Given the description of an element on the screen output the (x, y) to click on. 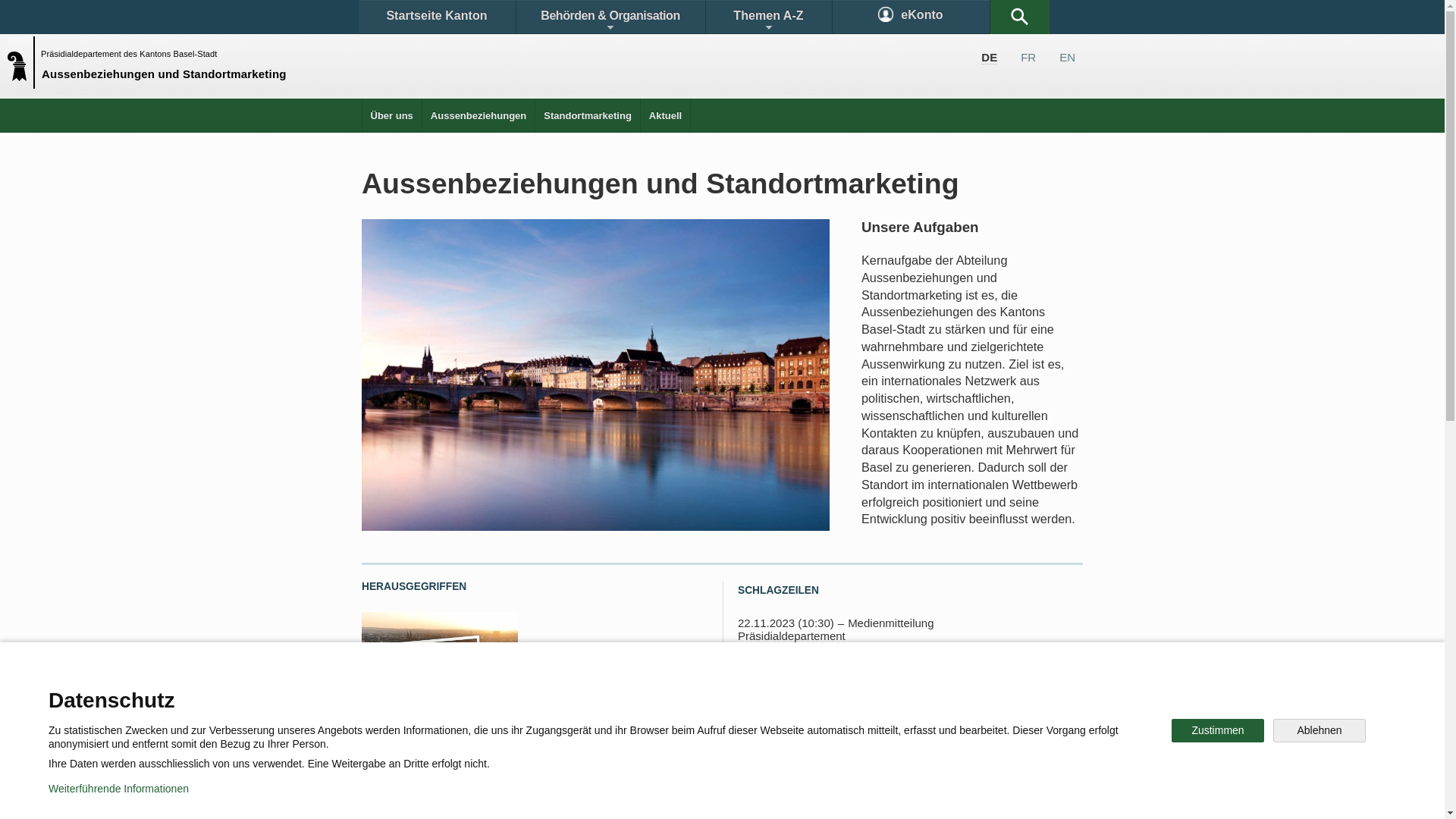
Zur mobilen Ansicht Element type: text (752, 796)
YouTube Element type: text (839, 746)
eKonto Element type: text (910, 17)
Gesetze Element type: text (597, 693)
EN Element type: text (1067, 56)
Newsletter Element type: text (942, 746)
Nutzungsregelungen Element type: text (542, 796)
Instagram Element type: text (738, 746)
Ablehnen Element type: text (1319, 730)
Startseite Kanton Element type: text (435, 17)
Impressum Element type: text (648, 796)
Themen A-Z Element type: text (768, 17)
Publikationen Element type: text (795, 693)
Twitter Element type: text (642, 746)
Bilder & Multimedia Element type: text (908, 693)
Aussenbeziehungen Element type: text (478, 115)
Statistiken Element type: text (687, 693)
FR Element type: text (1027, 56)
Kontakt Element type: text (406, 693)
Zustimmen Element type: text (1217, 730)
Stadtplan & Karten Element type: text (504, 693)
Aktuell Element type: text (665, 115)
Standortmarketing Element type: text (587, 115)
Facebook Element type: text (547, 746)
